Given the description of an element on the screen output the (x, y) to click on. 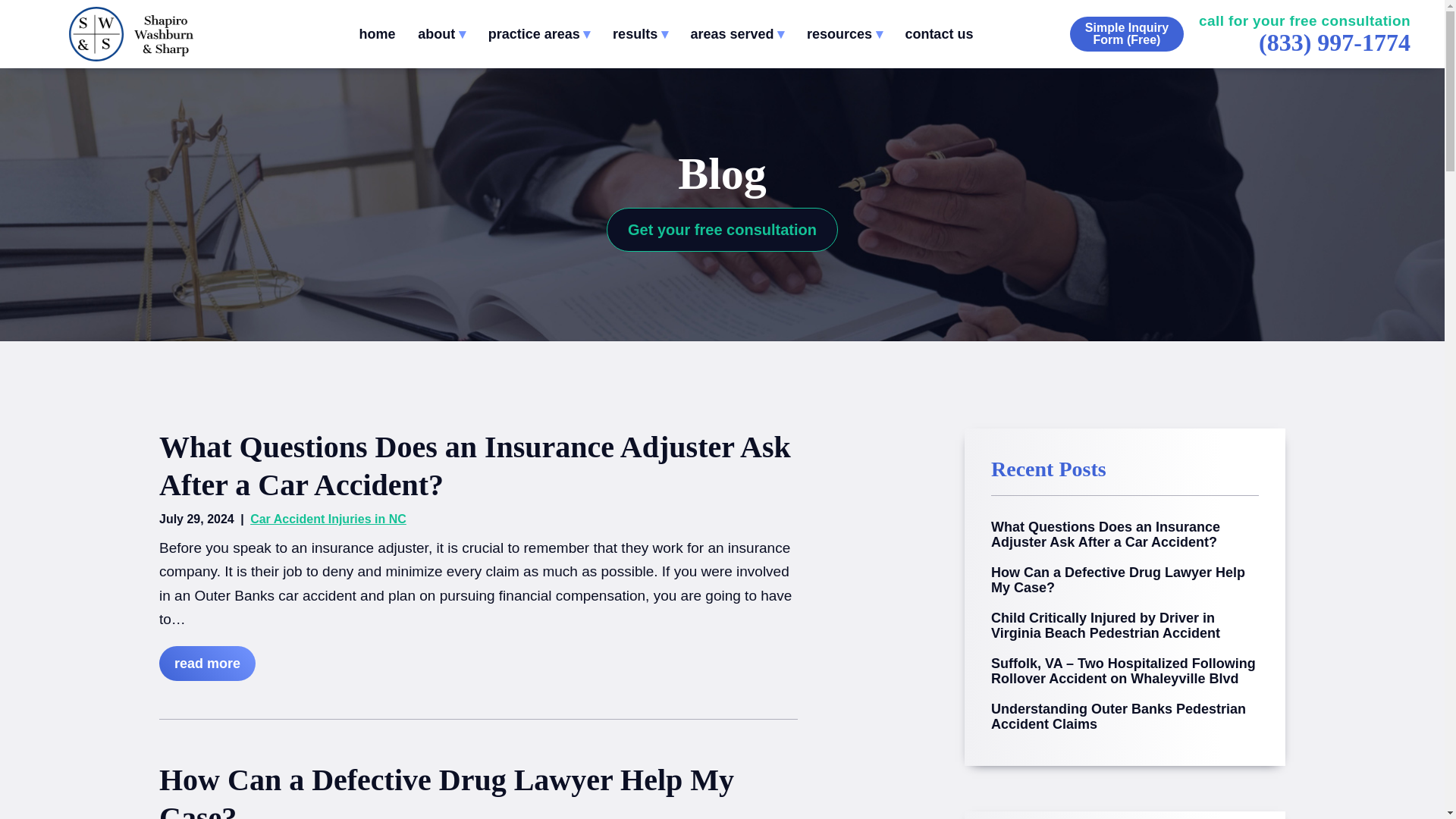
practice areas (539, 34)
results (640, 34)
areas served (737, 34)
home (376, 34)
resources (844, 34)
Local (1334, 42)
about (441, 34)
